Given the description of an element on the screen output the (x, y) to click on. 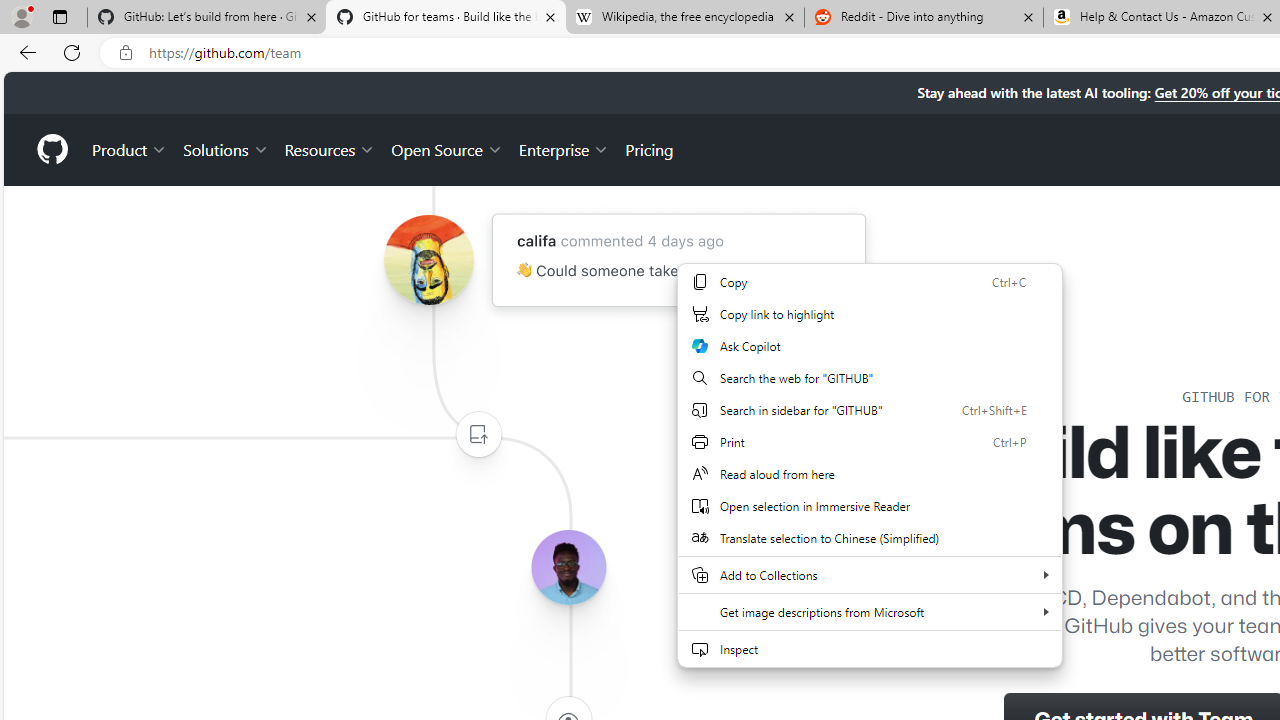
Solutions (225, 148)
Pricing (649, 148)
Avatar of the user lerebear (568, 567)
Search in sidebar for "GITHUB" (870, 409)
Open Source (446, 148)
Resources (330, 148)
Enterprise (563, 148)
Copy (870, 281)
Copy link to highlight (870, 313)
Resources (330, 148)
Read aloud from here (870, 473)
Add to Collections (870, 574)
